Given the description of an element on the screen output the (x, y) to click on. 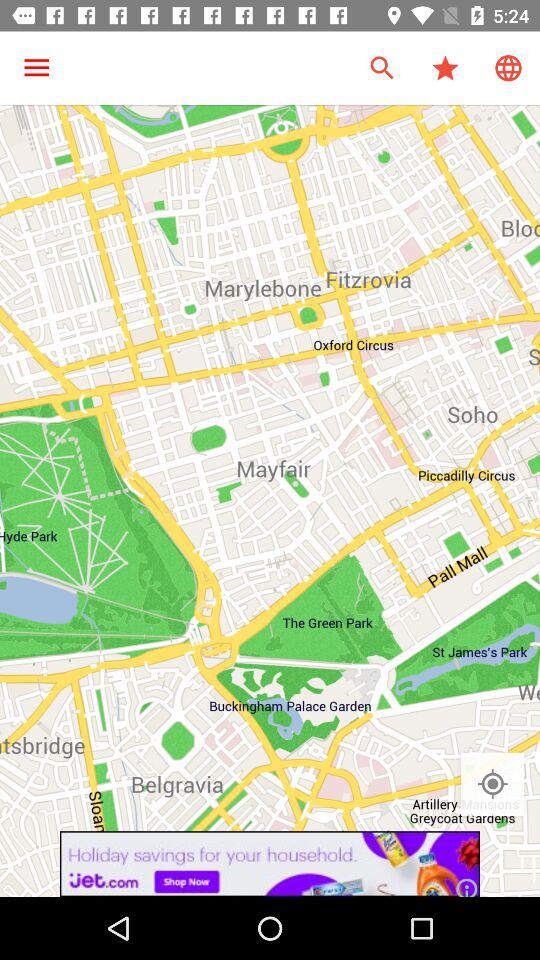
select advertisement (270, 864)
